Given the description of an element on the screen output the (x, y) to click on. 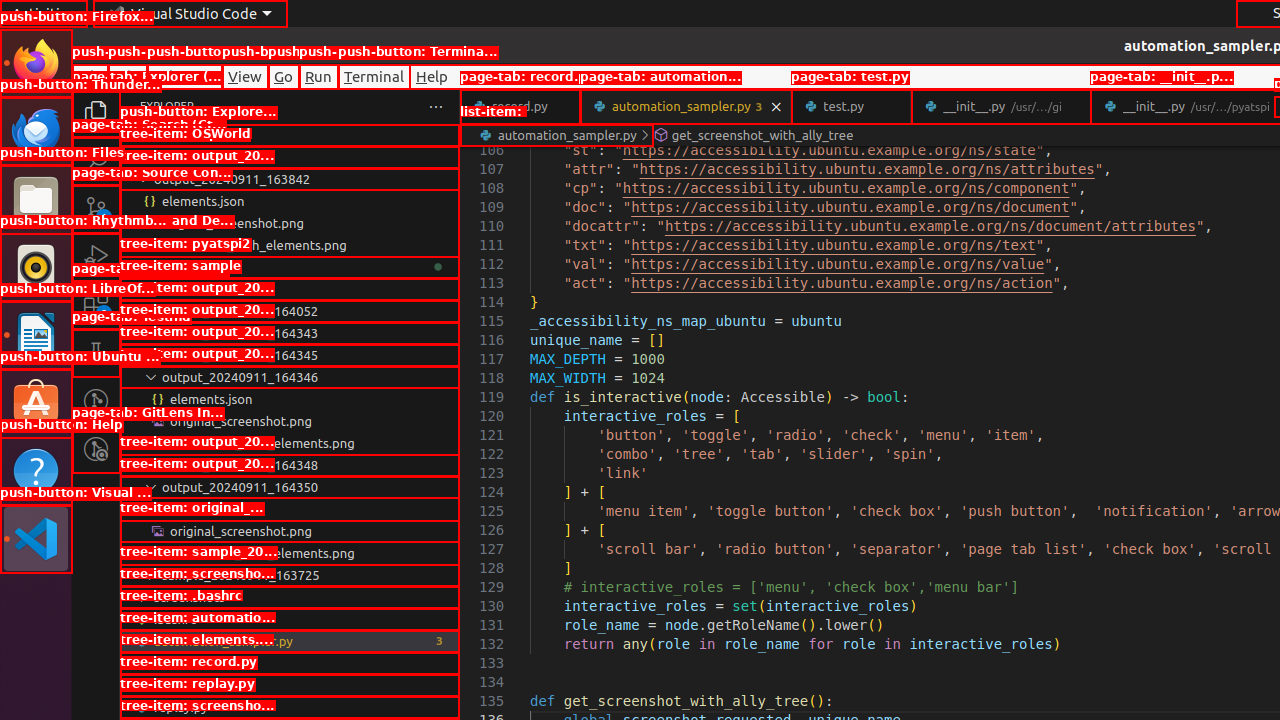
View Element type: push-button (245, 76)
output_20240911_164346 Element type: tree-item (289, 377)
sample Element type: tree-item (289, 289)
Go Element type: push-button (283, 76)
